Given the description of an element on the screen output the (x, y) to click on. 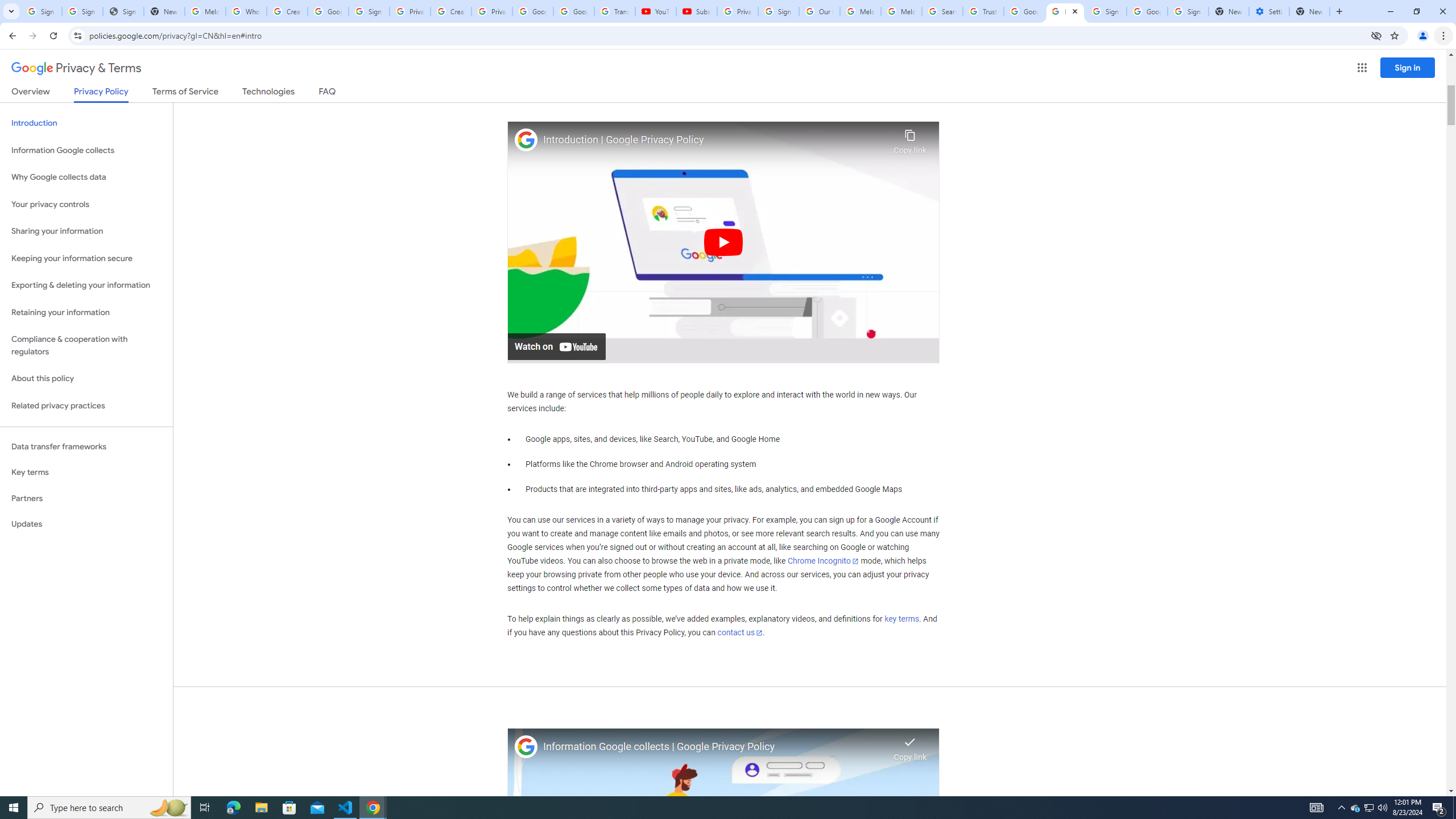
Compliance & cooperation with regulators (86, 345)
Sign in - Google Accounts (368, 11)
Google Ads - Sign in (1023, 11)
Who is my administrator? - Google Account Help (246, 11)
key terms (900, 619)
Search our Doodle Library Collection - Google Doodles (942, 11)
Watch on YouTube (556, 346)
Related privacy practices (86, 405)
Photo image of Google (526, 746)
